Given the description of an element on the screen output the (x, y) to click on. 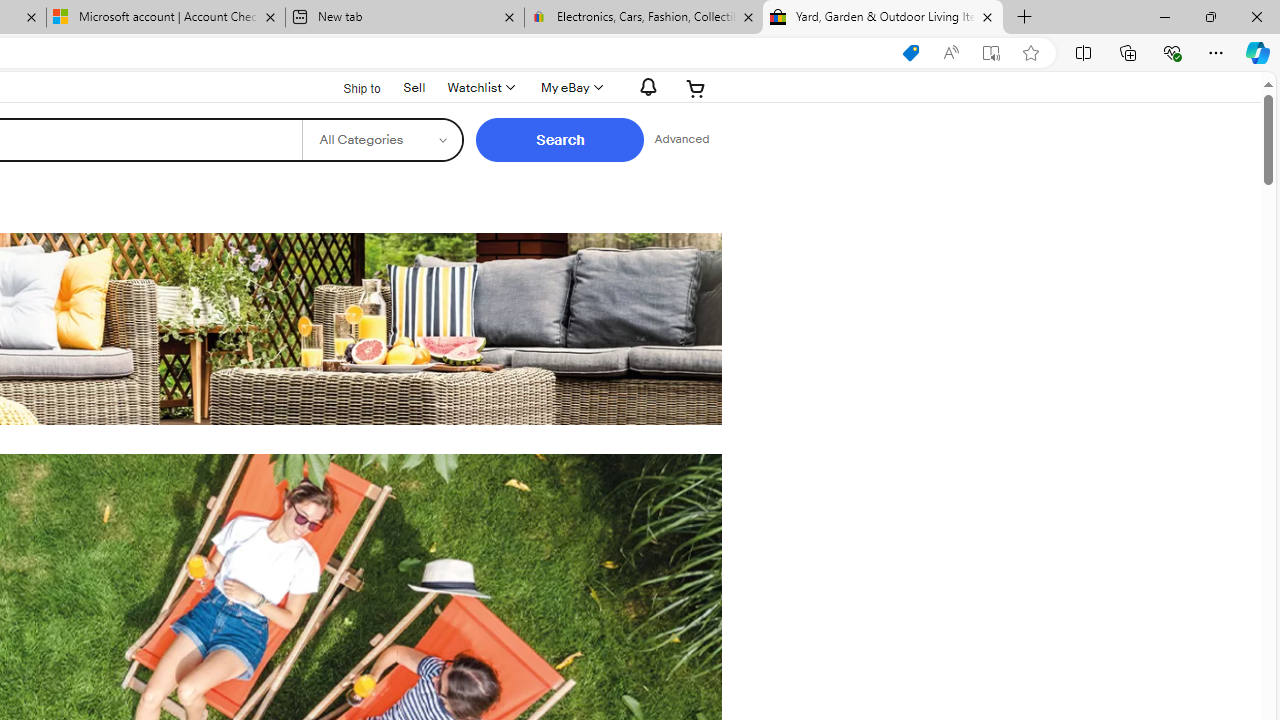
Ship to (349, 89)
